Given the description of an element on the screen output the (x, y) to click on. 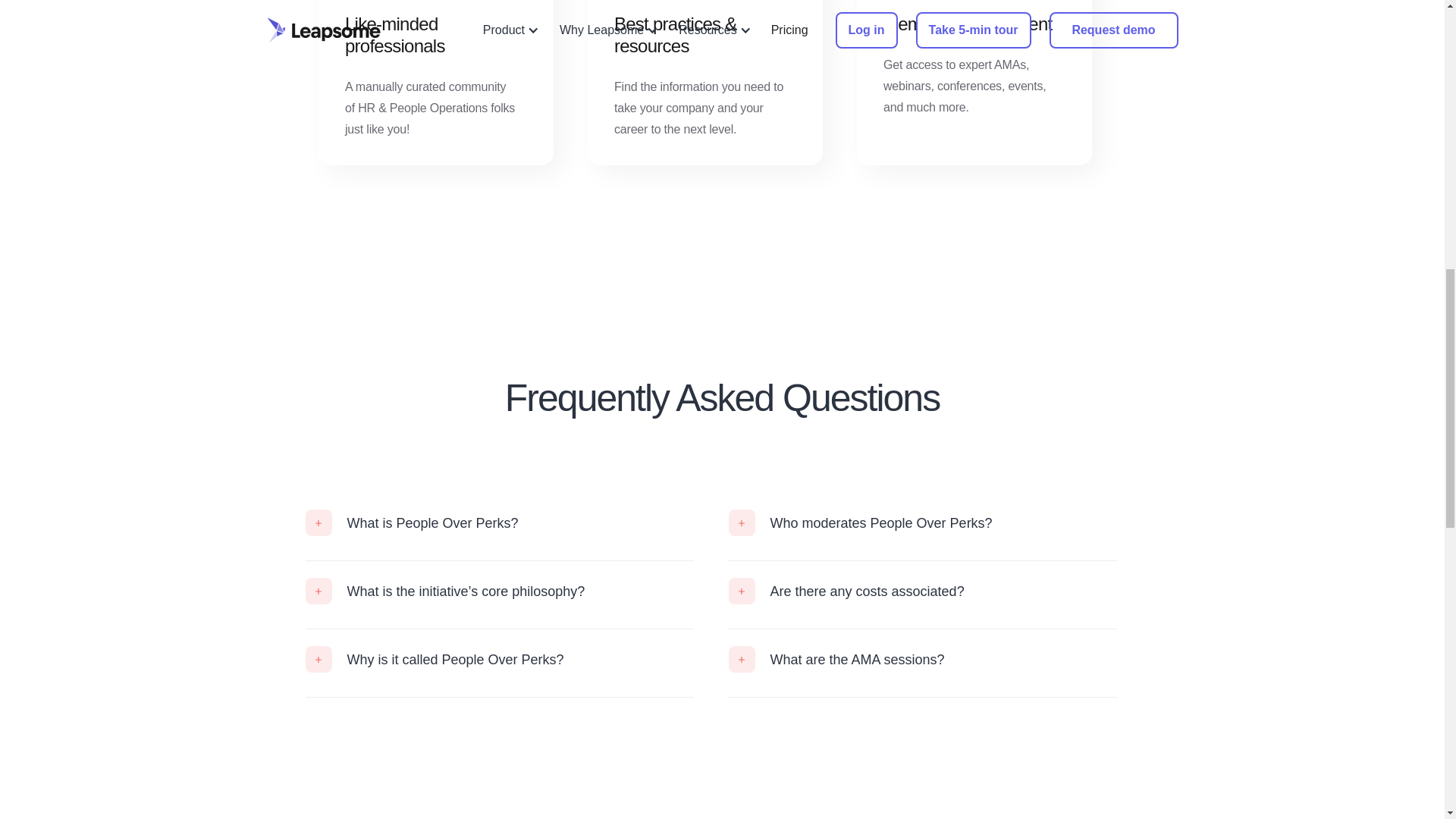
What is People Over Perks? (498, 522)
Who moderates People Over Perks? (922, 522)
Why is it called People Over Perks? (498, 659)
